Given the description of an element on the screen output the (x, y) to click on. 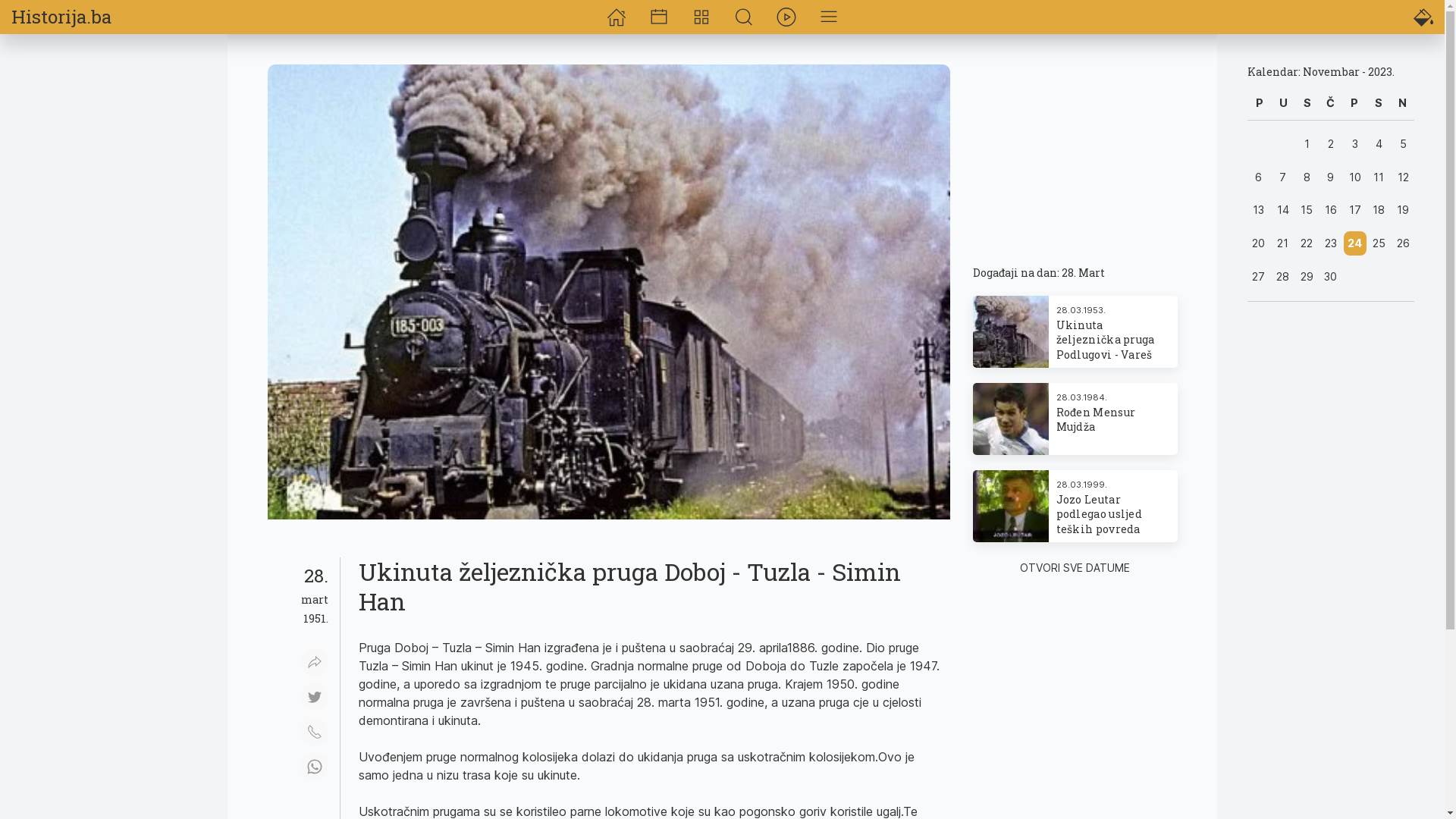
16 Element type: text (1330, 209)
25 Element type: text (1379, 243)
6 Element type: text (1258, 177)
Historija.ba Element type: text (61, 17)
Advertisement Element type: hover (113, 291)
2 Element type: text (1330, 143)
4 Element type: text (1379, 143)
27 Element type: text (1258, 276)
22 Element type: text (1306, 243)
3 Element type: text (1354, 143)
14 Element type: text (1282, 209)
28 Element type: text (1282, 276)
8 Element type: text (1306, 177)
18 Element type: text (1379, 209)
15 Element type: text (1306, 209)
19 Element type: text (1402, 209)
26 Element type: text (1402, 243)
9 Element type: text (1330, 177)
13 Element type: text (1258, 209)
Advertisement Element type: hover (1074, 149)
24 Element type: text (1354, 243)
7 Element type: text (1282, 177)
30 Element type: text (1330, 276)
5 Element type: text (1402, 143)
Advertisement Element type: hover (1330, 543)
10 Element type: text (1354, 177)
11 Element type: text (1379, 177)
23 Element type: text (1330, 243)
12 Element type: text (1402, 177)
21 Element type: text (1282, 243)
20 Element type: text (1258, 243)
OTVORI SVE DATUME Element type: text (1074, 567)
1 Element type: text (1306, 143)
17 Element type: text (1354, 209)
29 Element type: text (1306, 276)
